Given the description of an element on the screen output the (x, y) to click on. 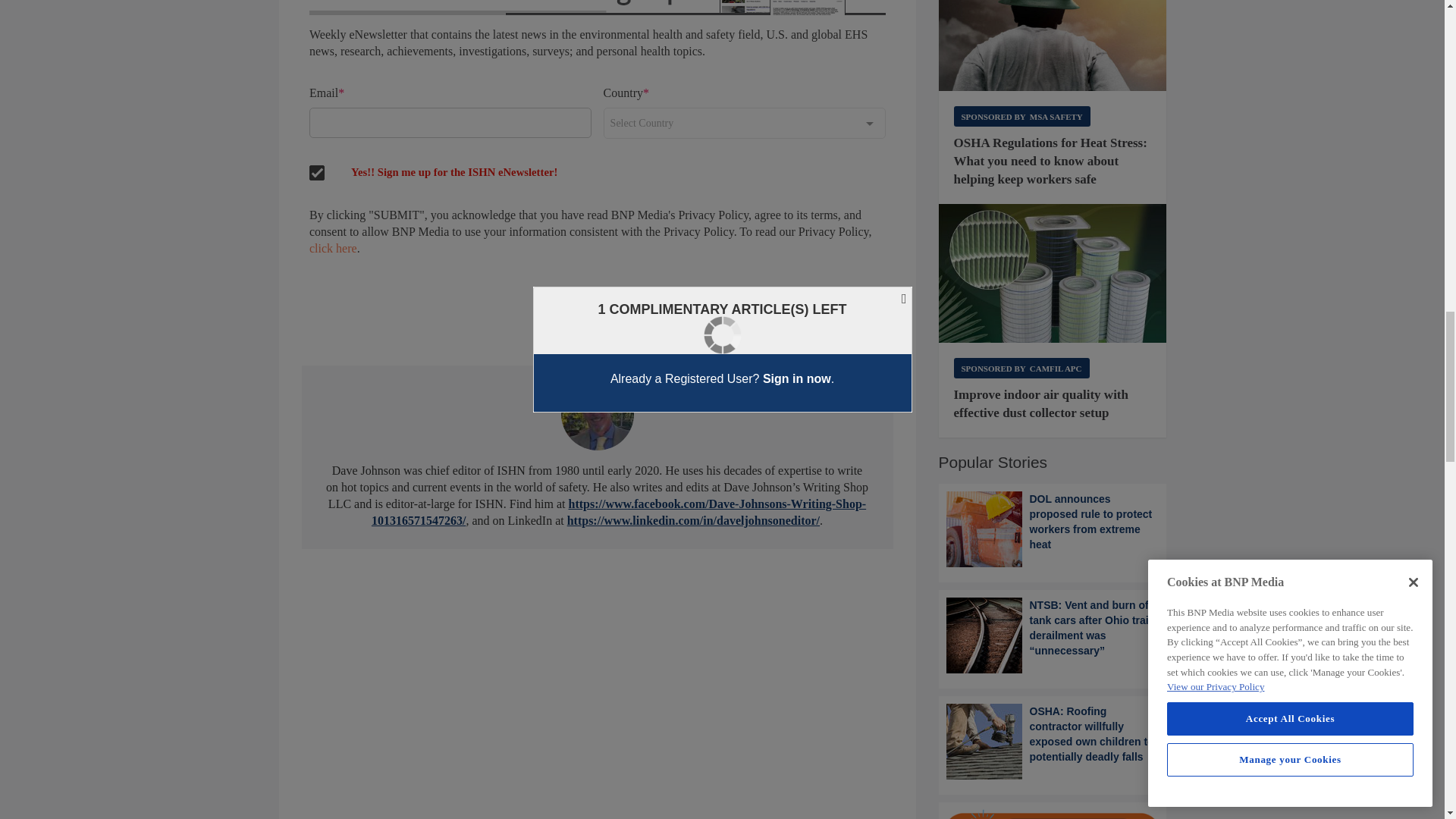
dust collector filters and media (1052, 273)
Sponsored by MSA Safety (1021, 116)
man working in summer heat (1052, 45)
Sponsored by Camfil APC (1021, 367)
